Given the description of an element on the screen output the (x, y) to click on. 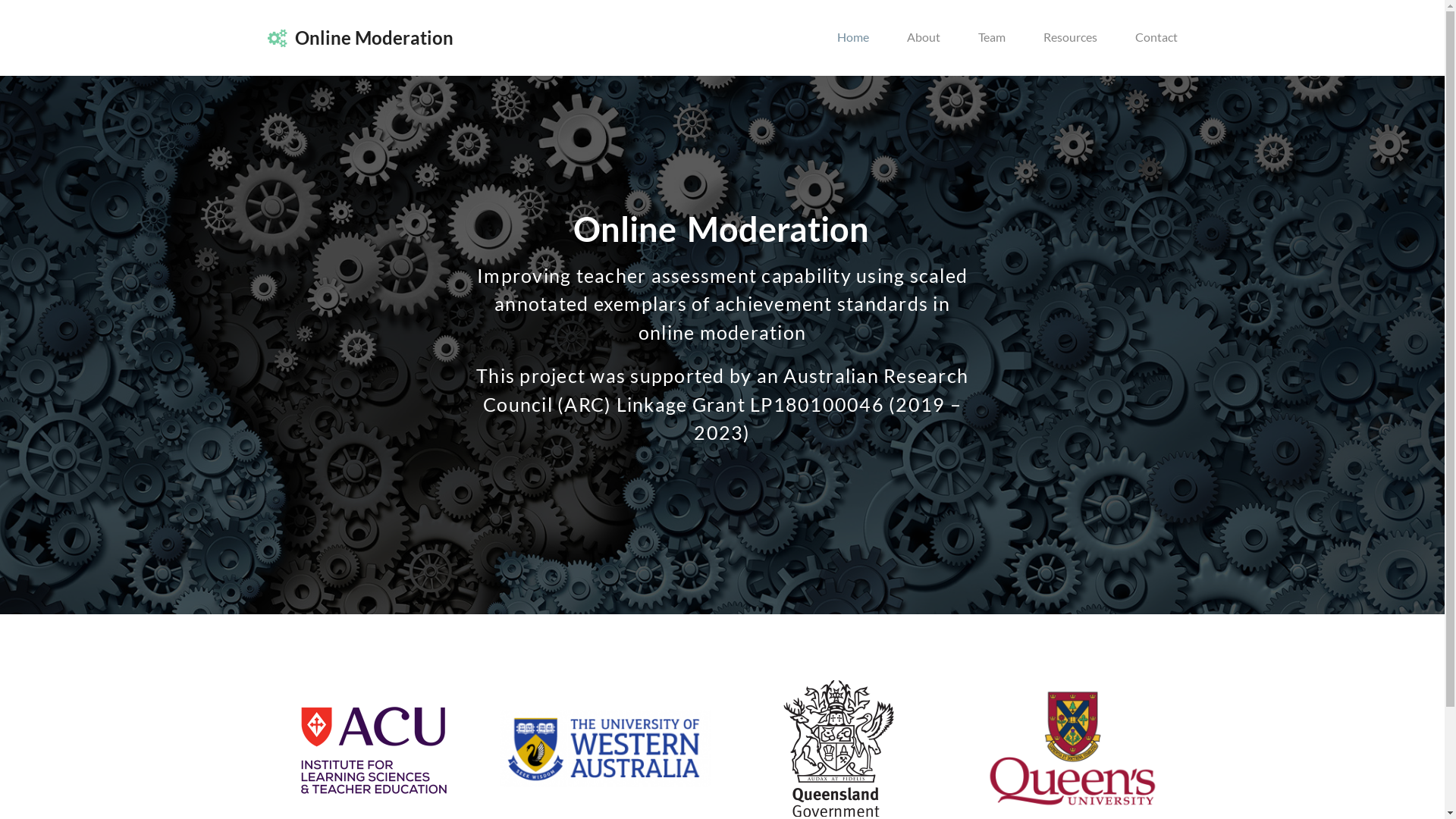
Home Element type: text (852, 37)
Team Element type: text (991, 37)
About Element type: text (922, 37)
QLD-Gov Element type: hover (838, 748)
Contact Element type: text (1156, 37)
Online Moderation Element type: text (359, 37)
Resources Element type: text (1069, 37)
Logo-ILSTE Element type: hover (372, 747)
